Given the description of an element on the screen output the (x, y) to click on. 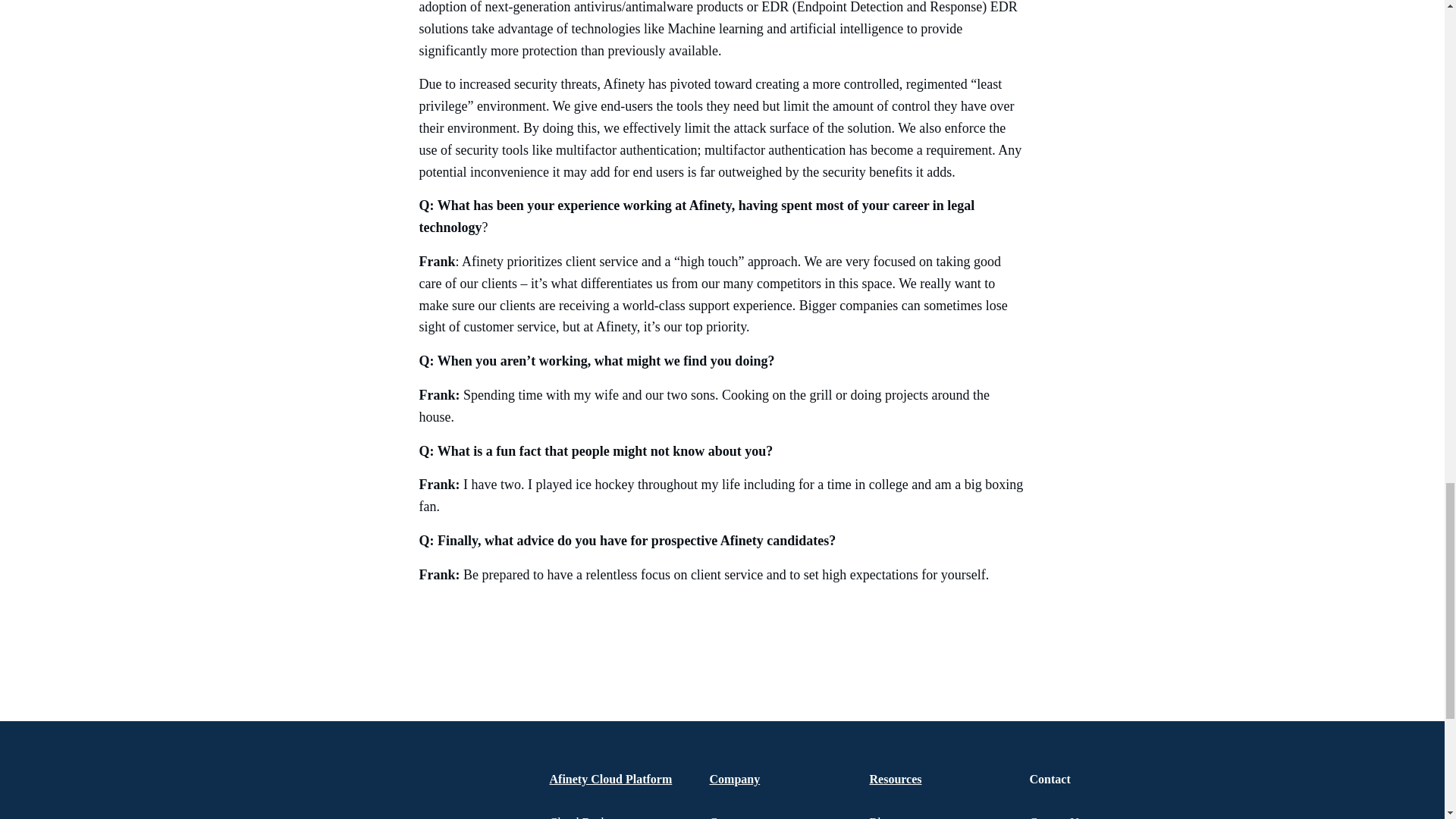
Blog (880, 817)
Careers (728, 817)
Afinety Cloud Platform (609, 779)
Company (735, 779)
Resources (895, 779)
Cloud Desktops (587, 817)
